Given the description of an element on the screen output the (x, y) to click on. 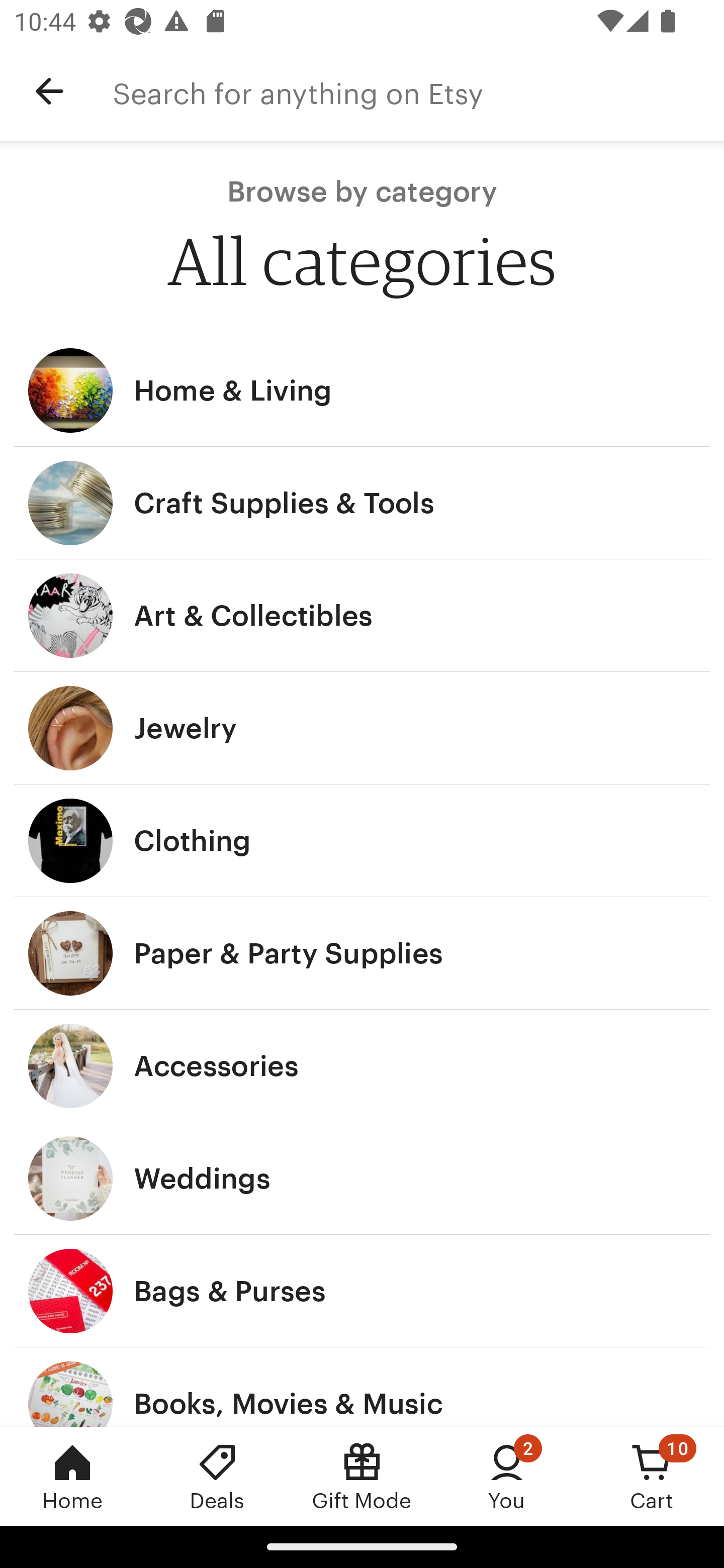
Navigate up (49, 91)
Search for anything on Etsy (418, 91)
Home & Living (361, 389)
Craft Supplies & Tools (361, 502)
Art & Collectibles (361, 615)
Jewelry (361, 728)
Clothing (361, 840)
Paper & Party Supplies (361, 952)
Accessories (361, 1065)
Weddings (361, 1178)
Bags & Purses (361, 1290)
Books, Movies & Music (361, 1386)
Deals (216, 1475)
Gift Mode (361, 1475)
You, 2 new notifications You (506, 1475)
Cart, 10 new notifications Cart (651, 1475)
